Given the description of an element on the screen output the (x, y) to click on. 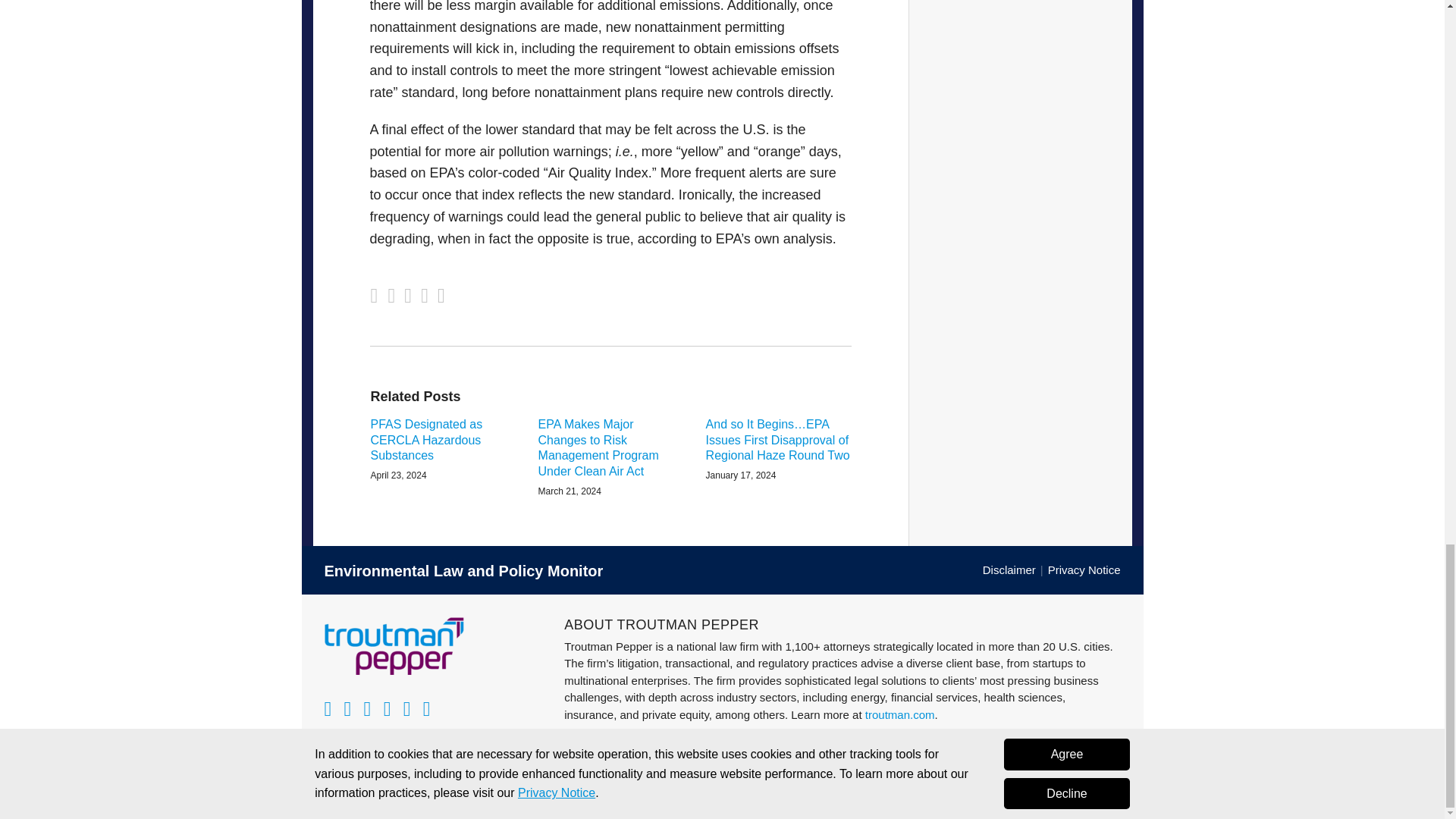
PFAS Designated as CERCLA Hazardous Substances (442, 440)
LexBlog Logo (1109, 793)
